Given the description of an element on the screen output the (x, y) to click on. 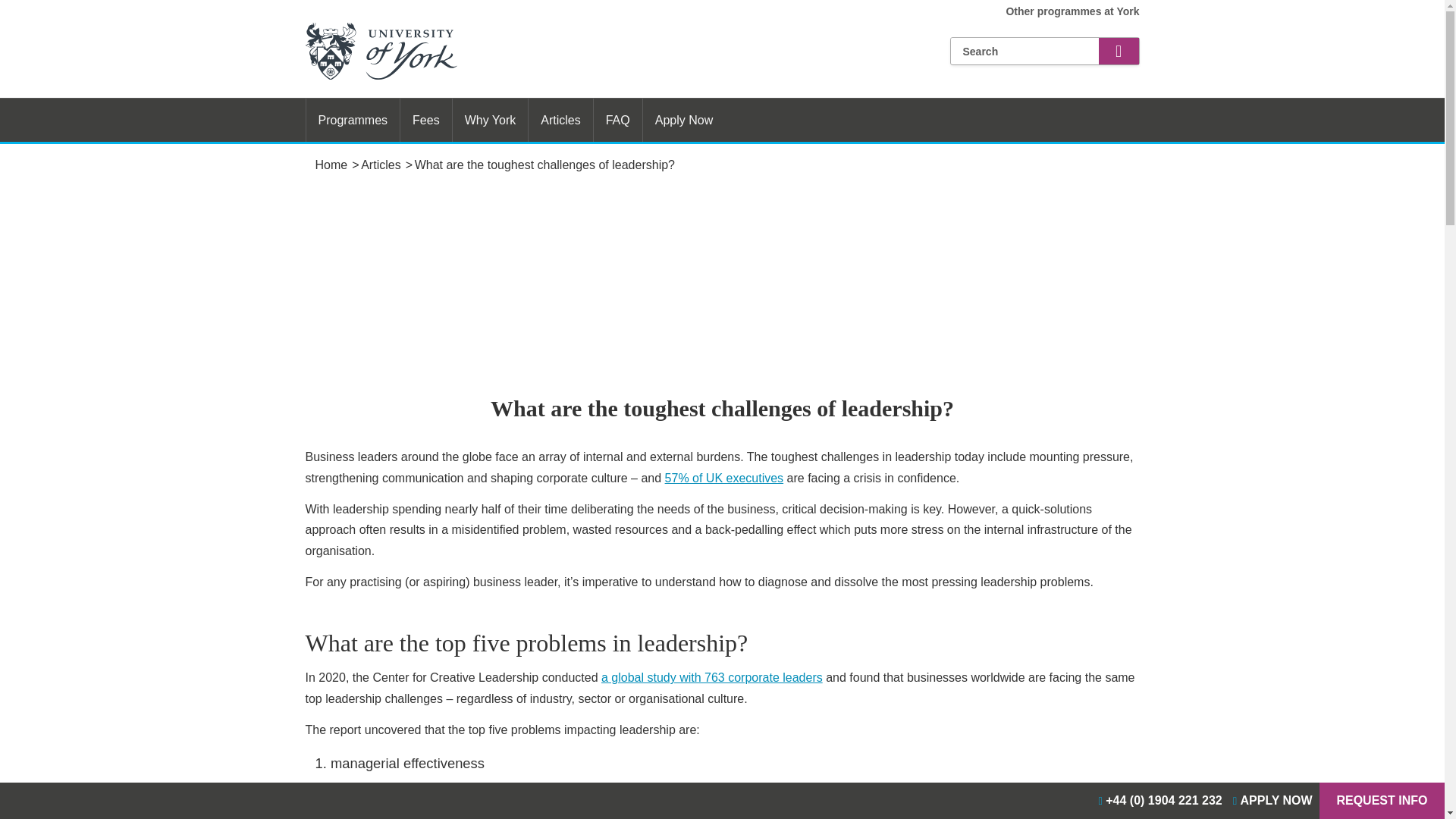
Programmes (351, 119)
Articles (559, 119)
University of York (331, 165)
Why York (489, 119)
Articles (380, 165)
a global study with 763 corporate leaders (711, 676)
Articles (380, 165)
Home (331, 165)
FAQ (617, 119)
